Given the description of an element on the screen output the (x, y) to click on. 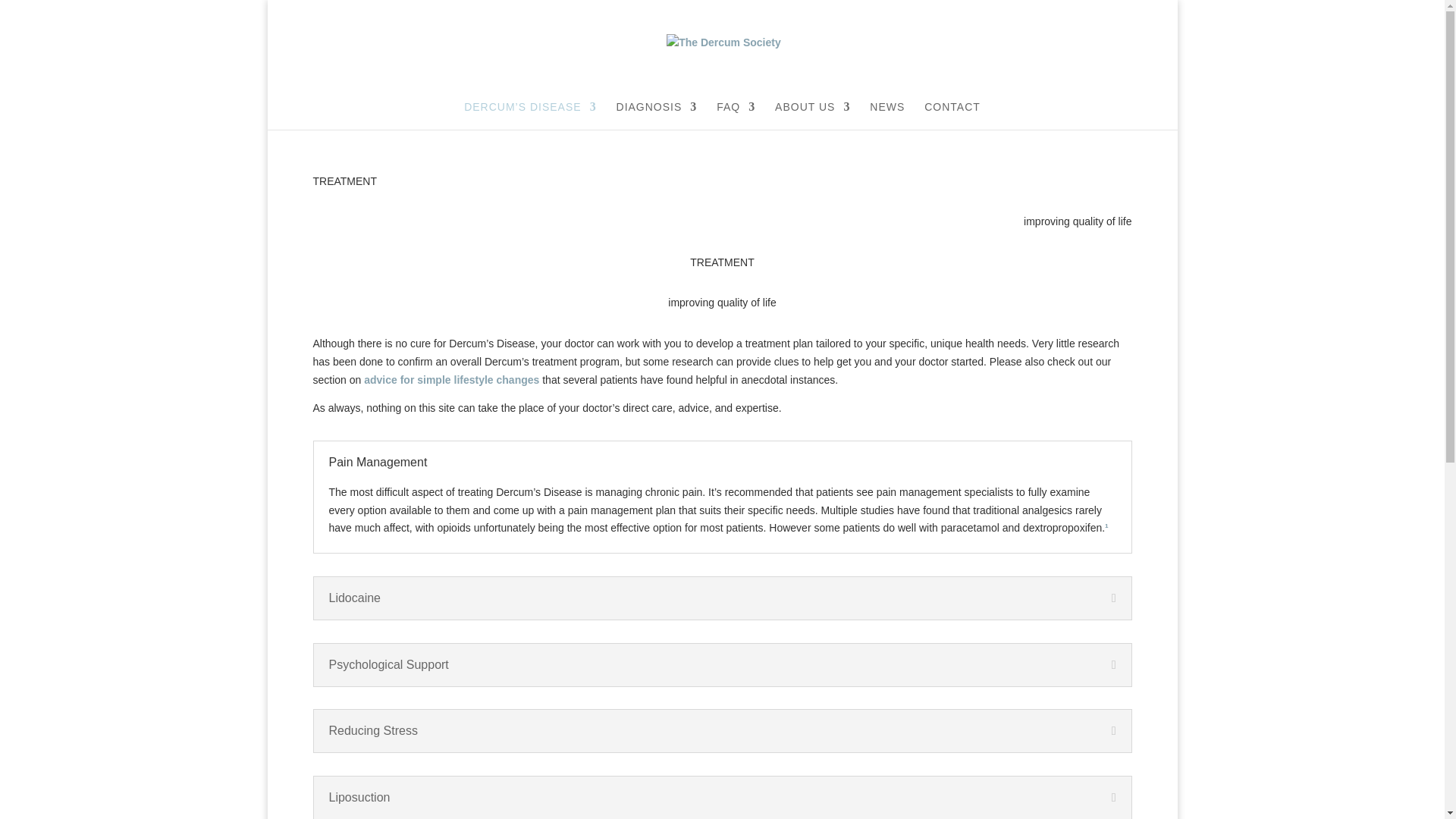
ABOUT US (812, 115)
FAQ (735, 115)
advice for simple lifestyle changes (451, 379)
CONTACT (951, 115)
DIAGNOSIS (656, 115)
NEWS (886, 115)
